Given the description of an element on the screen output the (x, y) to click on. 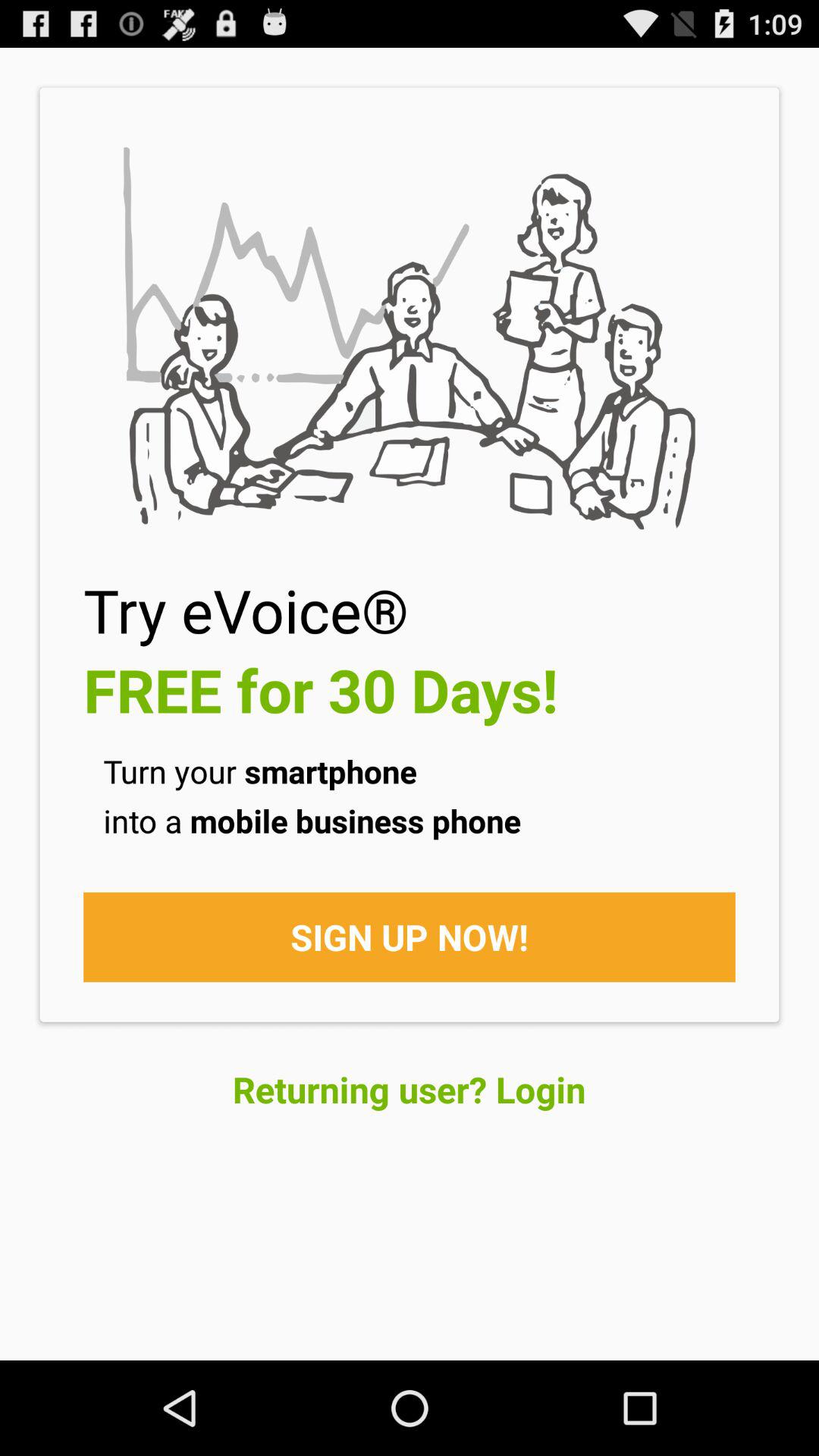
flip until the returning user? login icon (409, 1089)
